Given the description of an element on the screen output the (x, y) to click on. 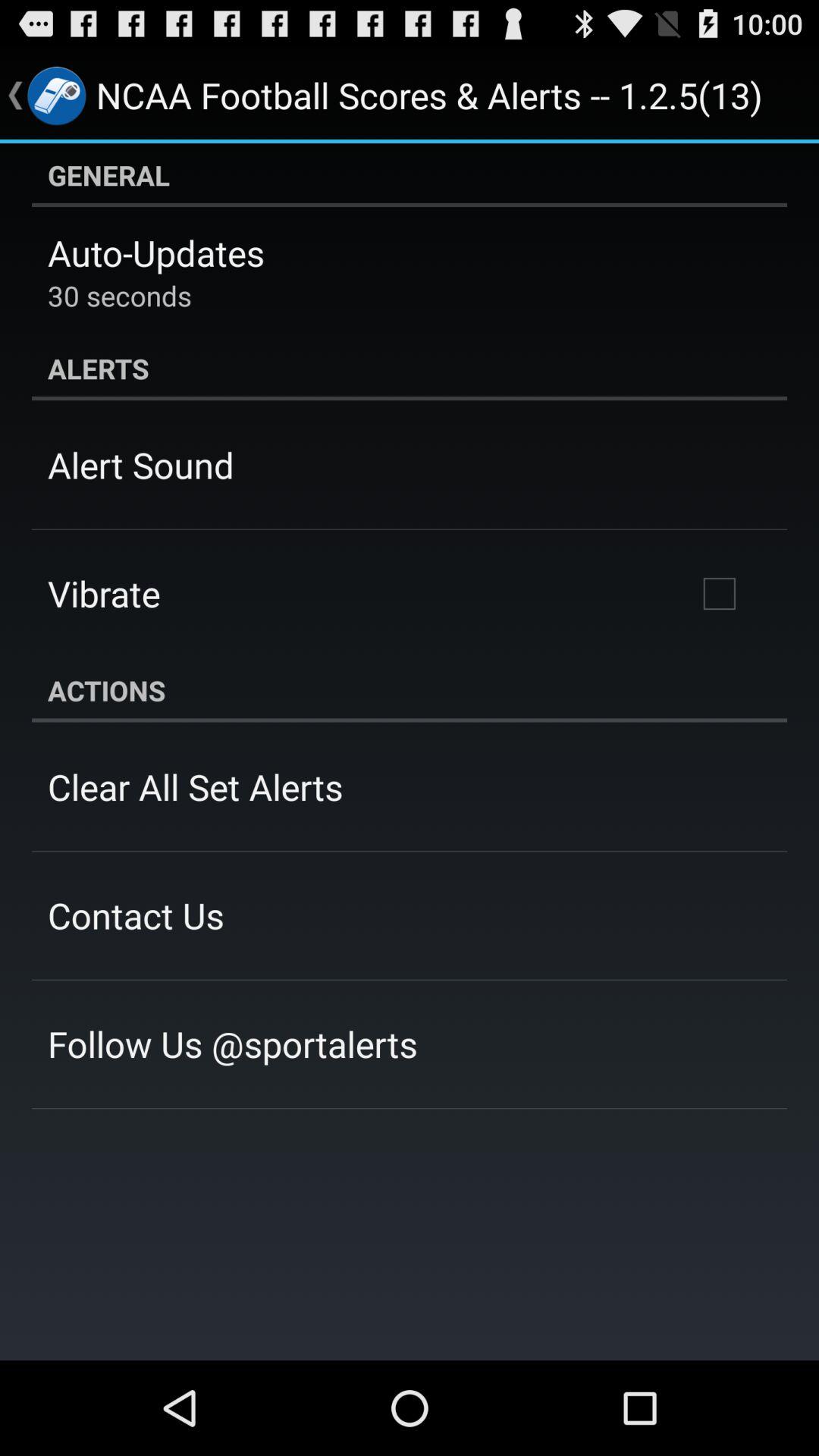
choose the icon below clear all set icon (135, 915)
